Given the description of an element on the screen output the (x, y) to click on. 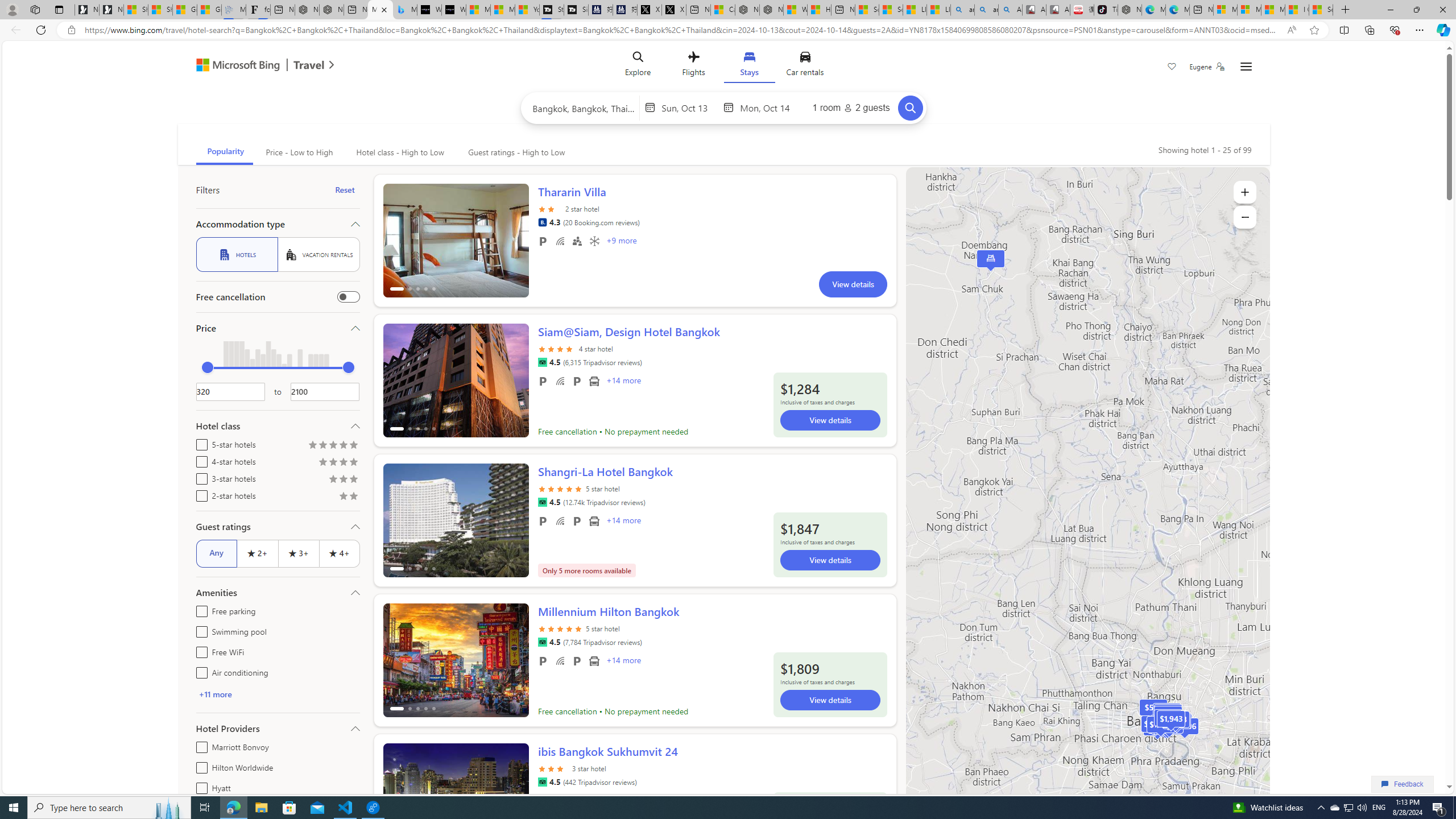
Hilton Worldwide (199, 765)
+9 More Amenities (621, 241)
Valet parking (577, 660)
Free parking (199, 609)
Hyatt (199, 786)
Save (1171, 67)
Swimming pool (199, 629)
Marriott Bonvoy (199, 745)
